Given the description of an element on the screen output the (x, y) to click on. 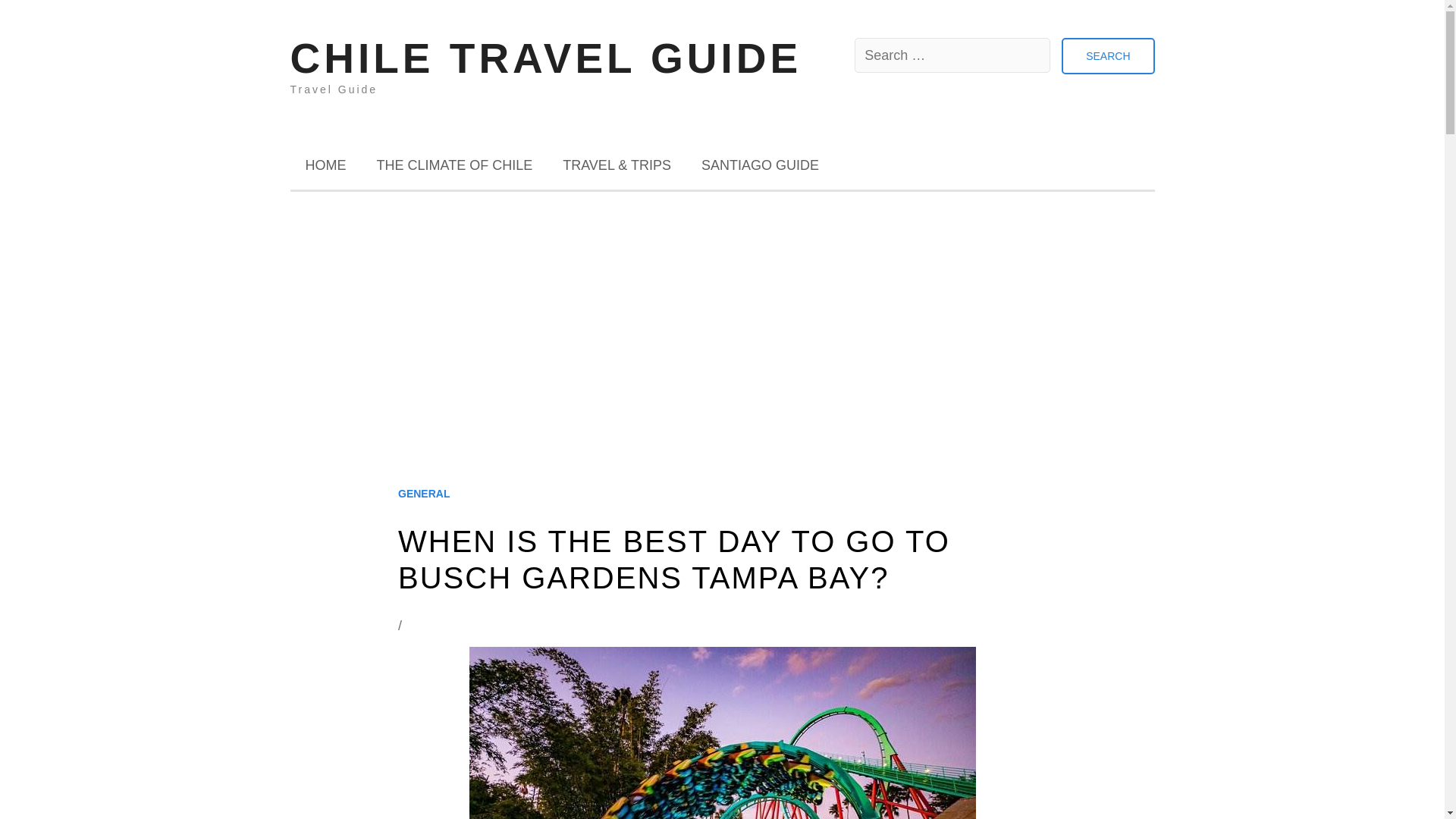
SANTIAGO GUIDE (759, 165)
CHILE TRAVEL GUIDE (545, 58)
Search (1107, 55)
THE CLIMATE OF CHILE (454, 165)
Search (1107, 55)
HOME (325, 165)
GENERAL (423, 494)
Search (1107, 55)
